Given the description of an element on the screen output the (x, y) to click on. 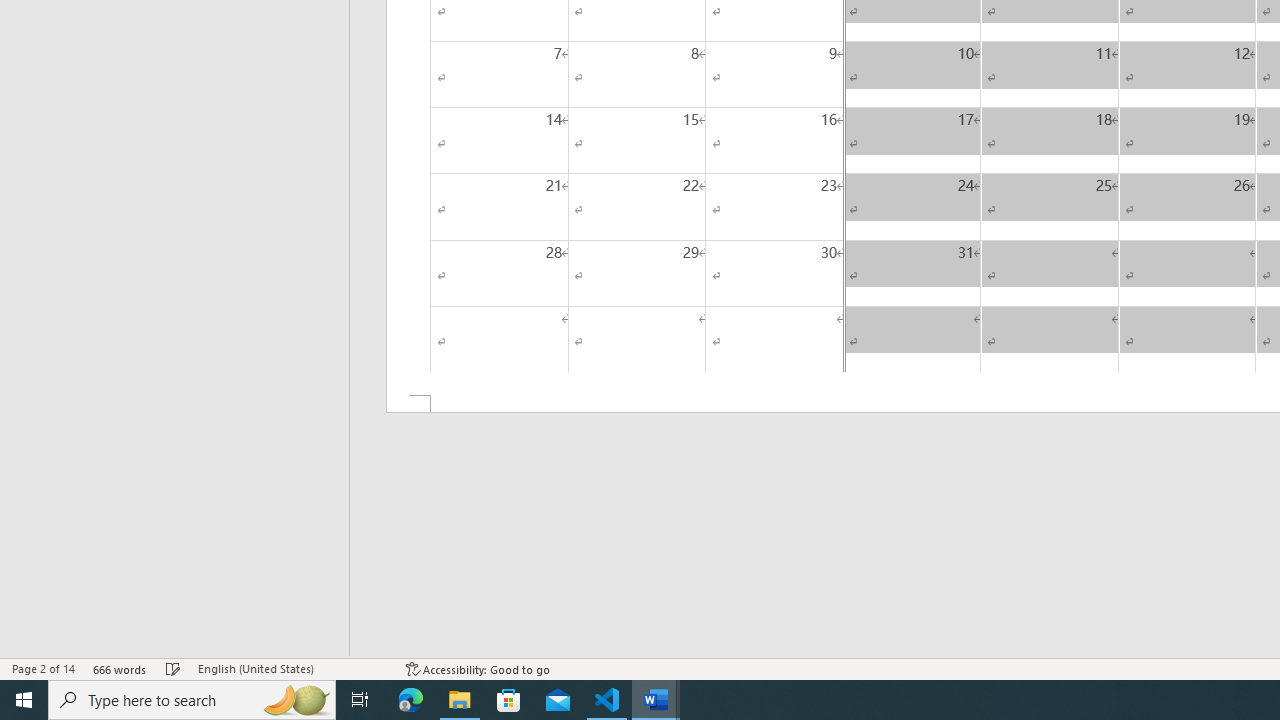
Accessibility Checker Accessibility: Good to go (478, 668)
Spelling and Grammar Check Checking (173, 668)
Word Count 666 words (119, 668)
Page Number Page 2 of 14 (43, 668)
Language English (United States) (292, 668)
